Given the description of an element on the screen output the (x, y) to click on. 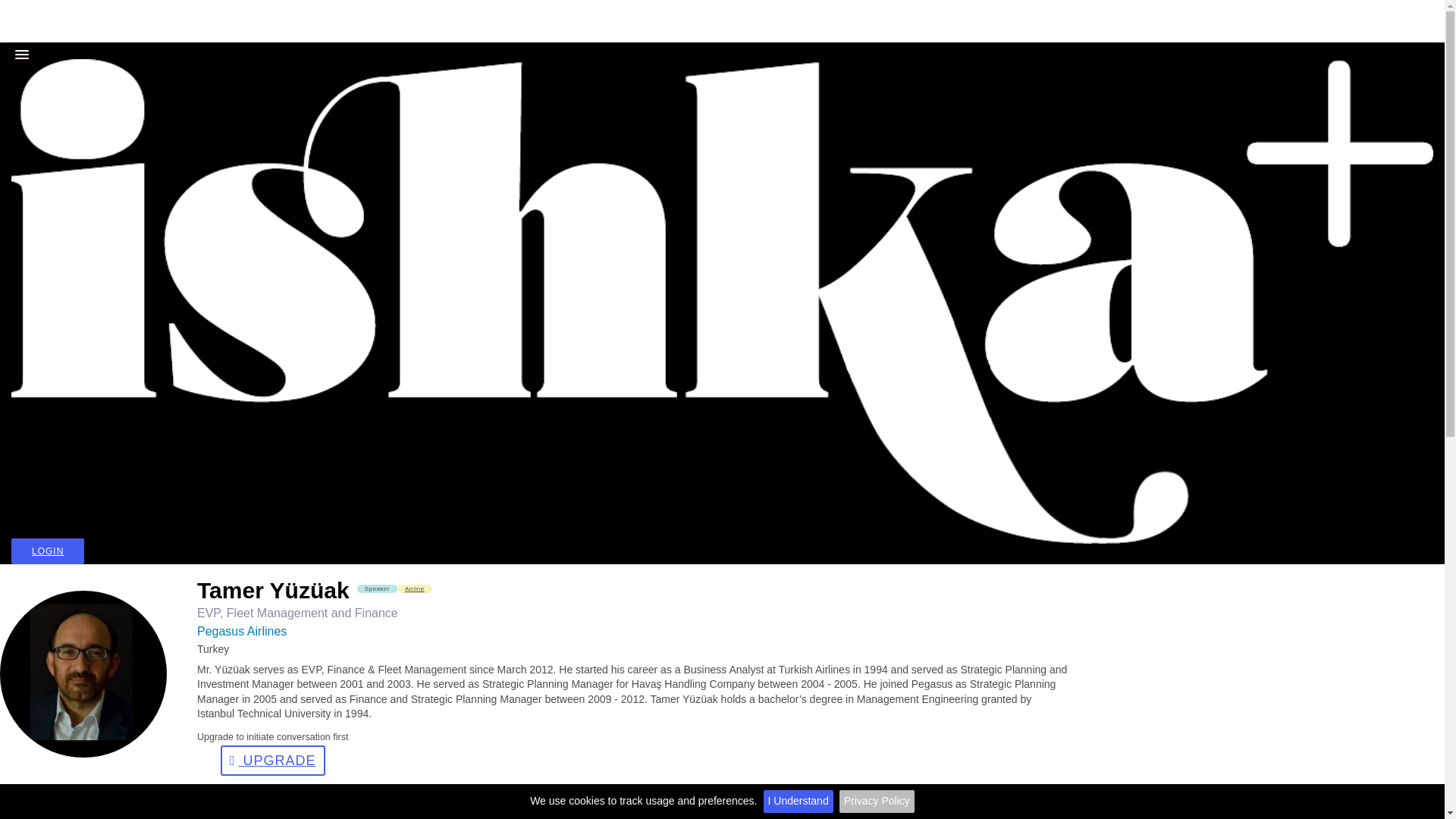
LOGIN (47, 551)
Airline (414, 588)
UPGRADE (272, 760)
Privacy Policy (877, 801)
I Understand (797, 801)
